Given the description of an element on the screen output the (x, y) to click on. 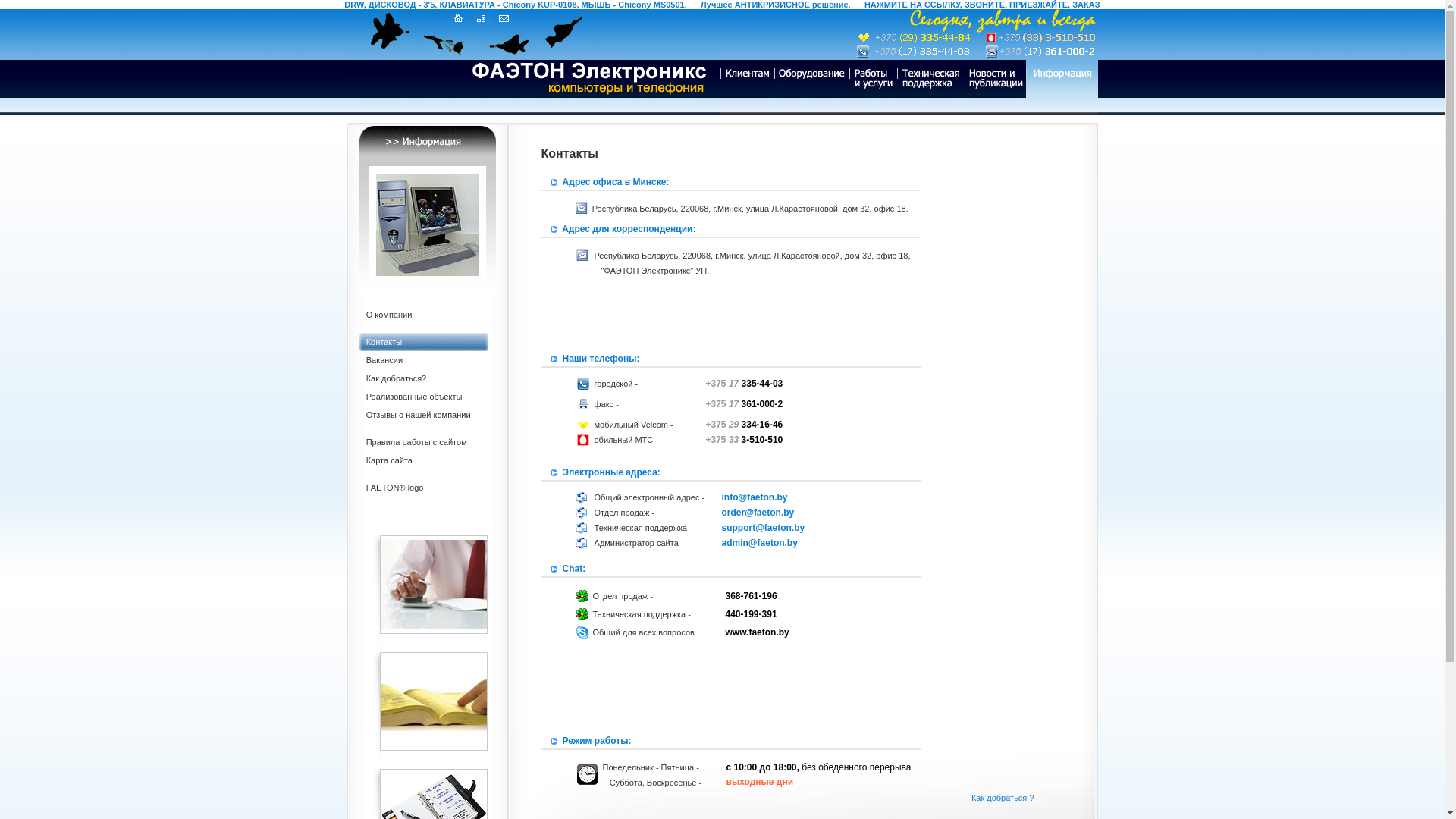
order@faeton.by Element type: text (757, 512)
support@faeton.by Element type: text (763, 527)
info@faeton.by Element type: text (754, 497)
admin@faeton.by Element type: text (759, 542)
